Given the description of an element on the screen output the (x, y) to click on. 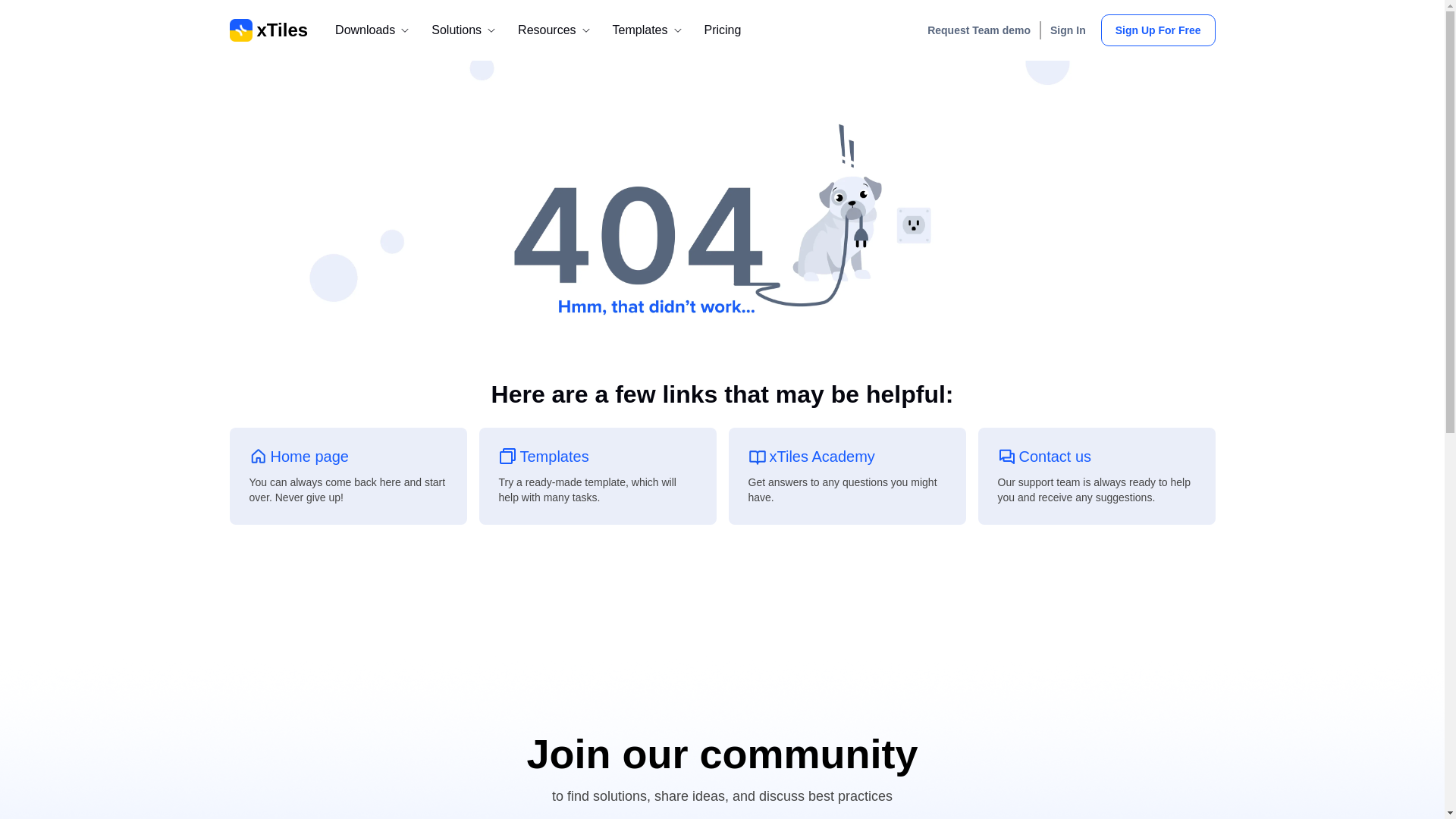
Sign Up For Free (1157, 29)
Request Team demo (979, 30)
Sign In (1070, 30)
xTiles (846, 475)
